Given the description of an element on the screen output the (x, y) to click on. 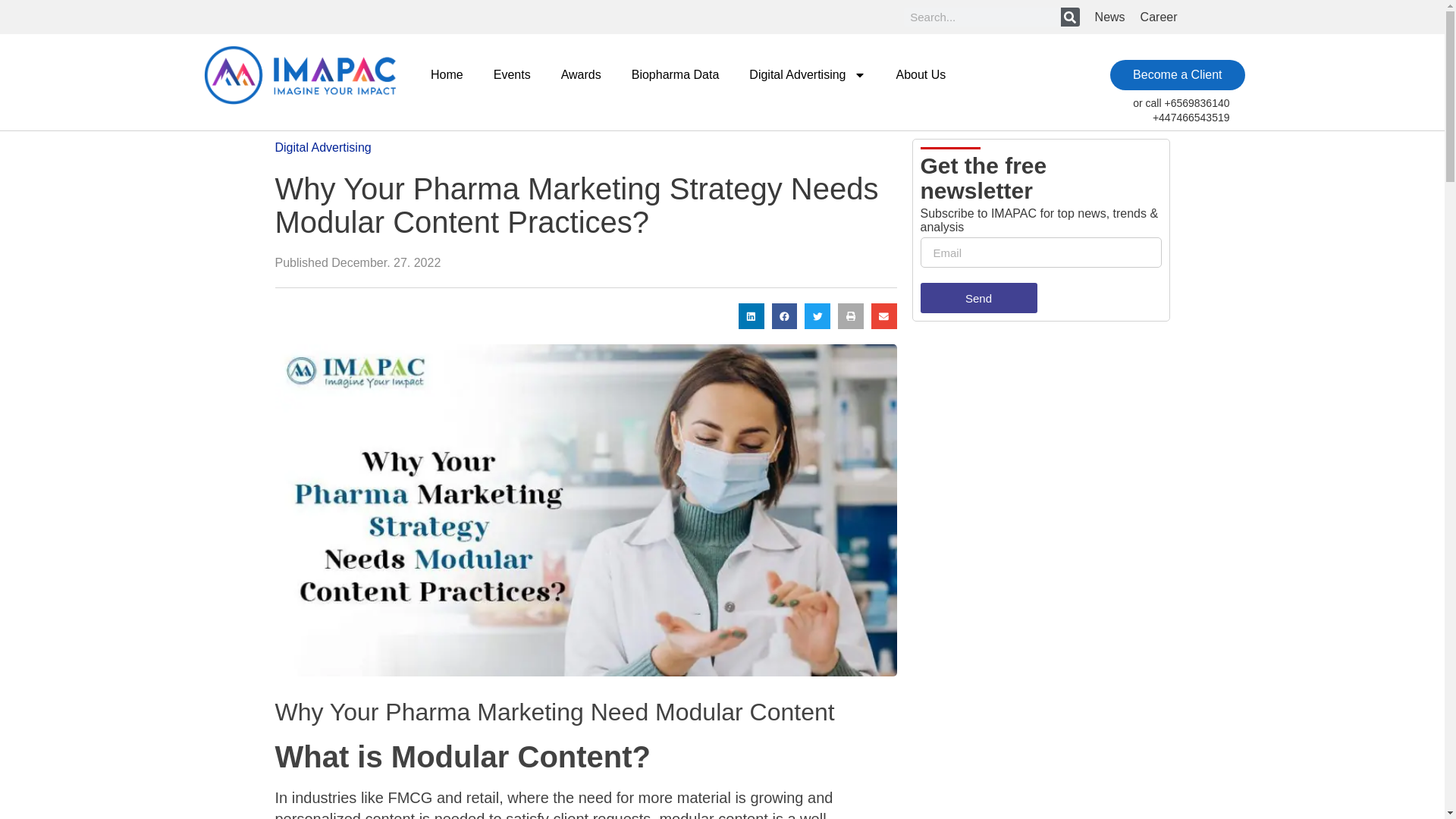
Biopharma Data (675, 74)
Home (446, 74)
Digital Advertising (806, 74)
Awards (580, 74)
Career (1158, 16)
News (1109, 16)
Events (512, 74)
Become a Client (1176, 74)
Send (978, 297)
About Us (920, 74)
